Given the description of an element on the screen output the (x, y) to click on. 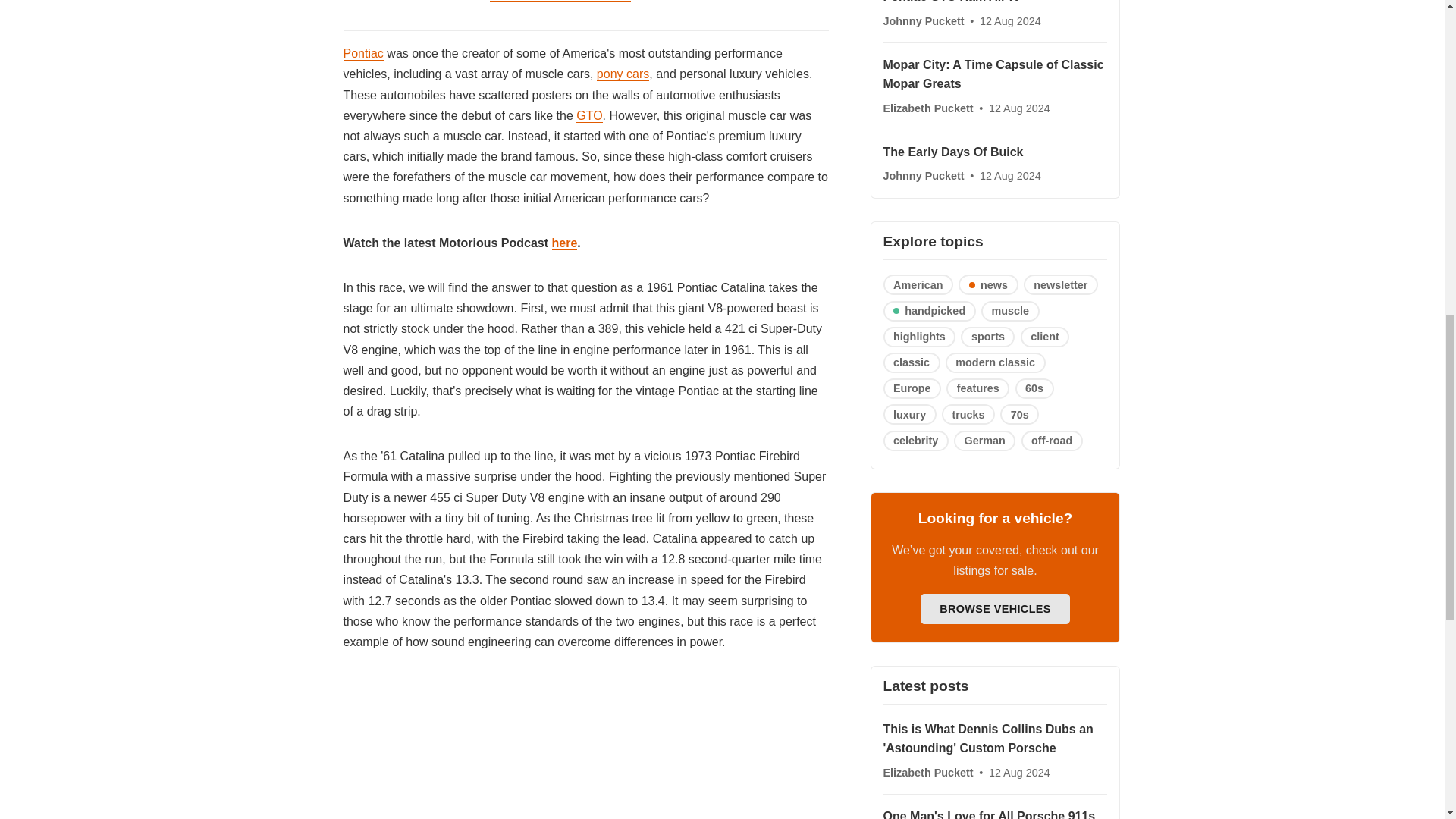
Johnny Puckett (924, 175)
GTO (589, 115)
here (564, 243)
pony cars (622, 74)
handpicked (928, 310)
Johnny Puckett (924, 21)
Elizabeth Puckett (928, 108)
Pontiac (362, 53)
best Pontiac (559, 0)
newsletter (1060, 284)
